Given the description of an element on the screen output the (x, y) to click on. 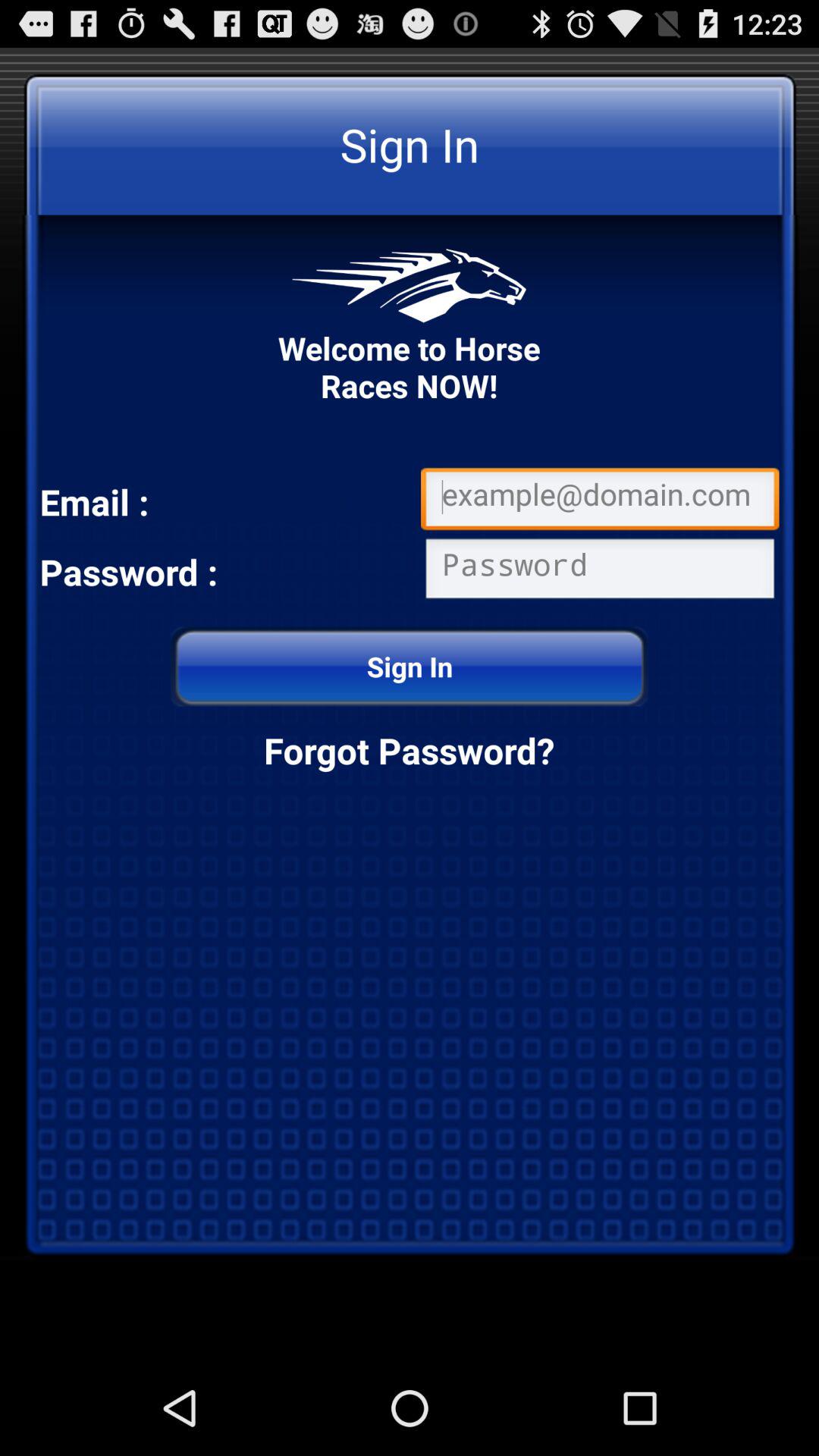
enter the password (599, 571)
